Given the description of an element on the screen output the (x, y) to click on. 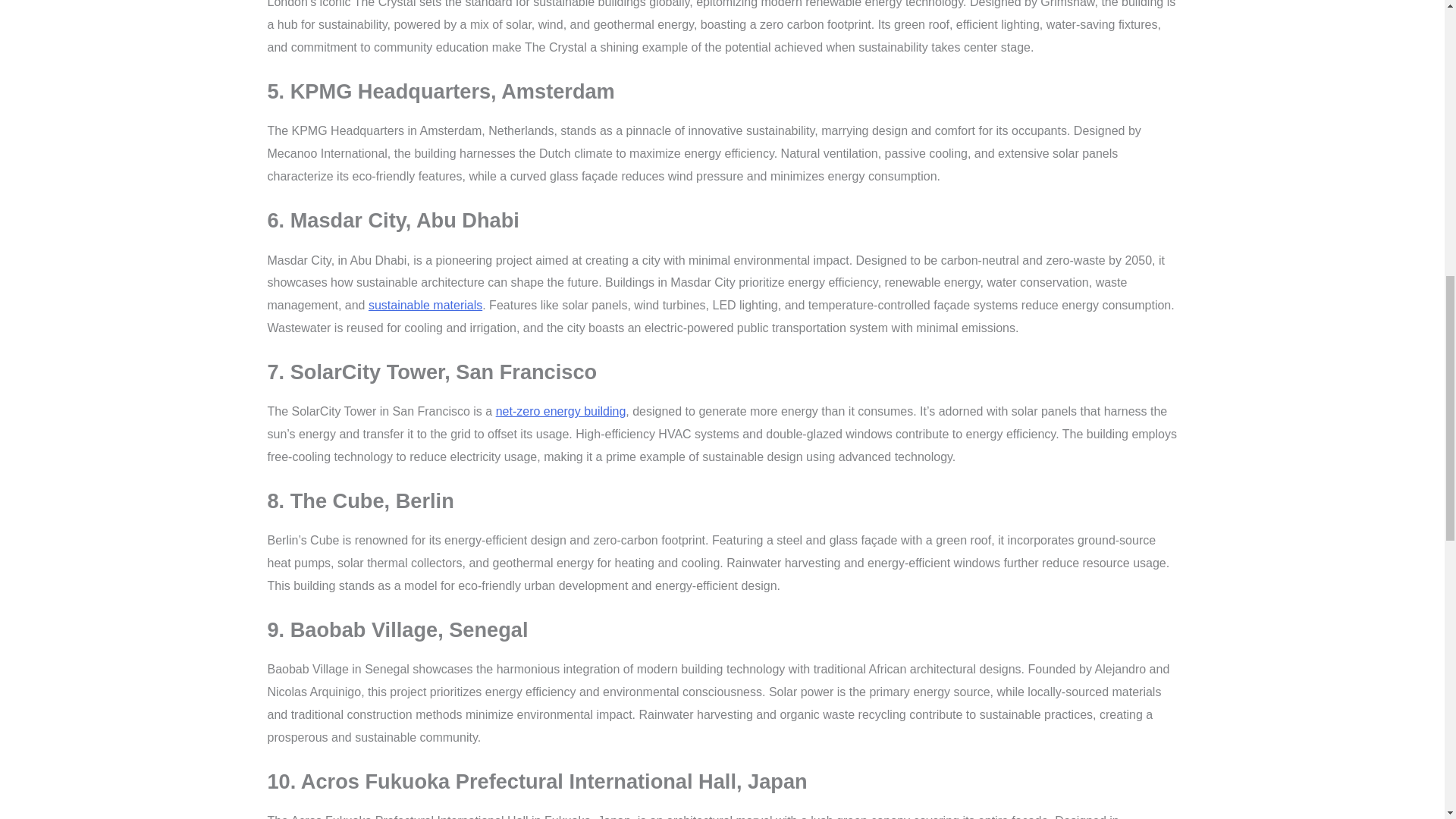
sustainable materials (424, 305)
net-zero energy building (561, 410)
